Given the description of an element on the screen output the (x, y) to click on. 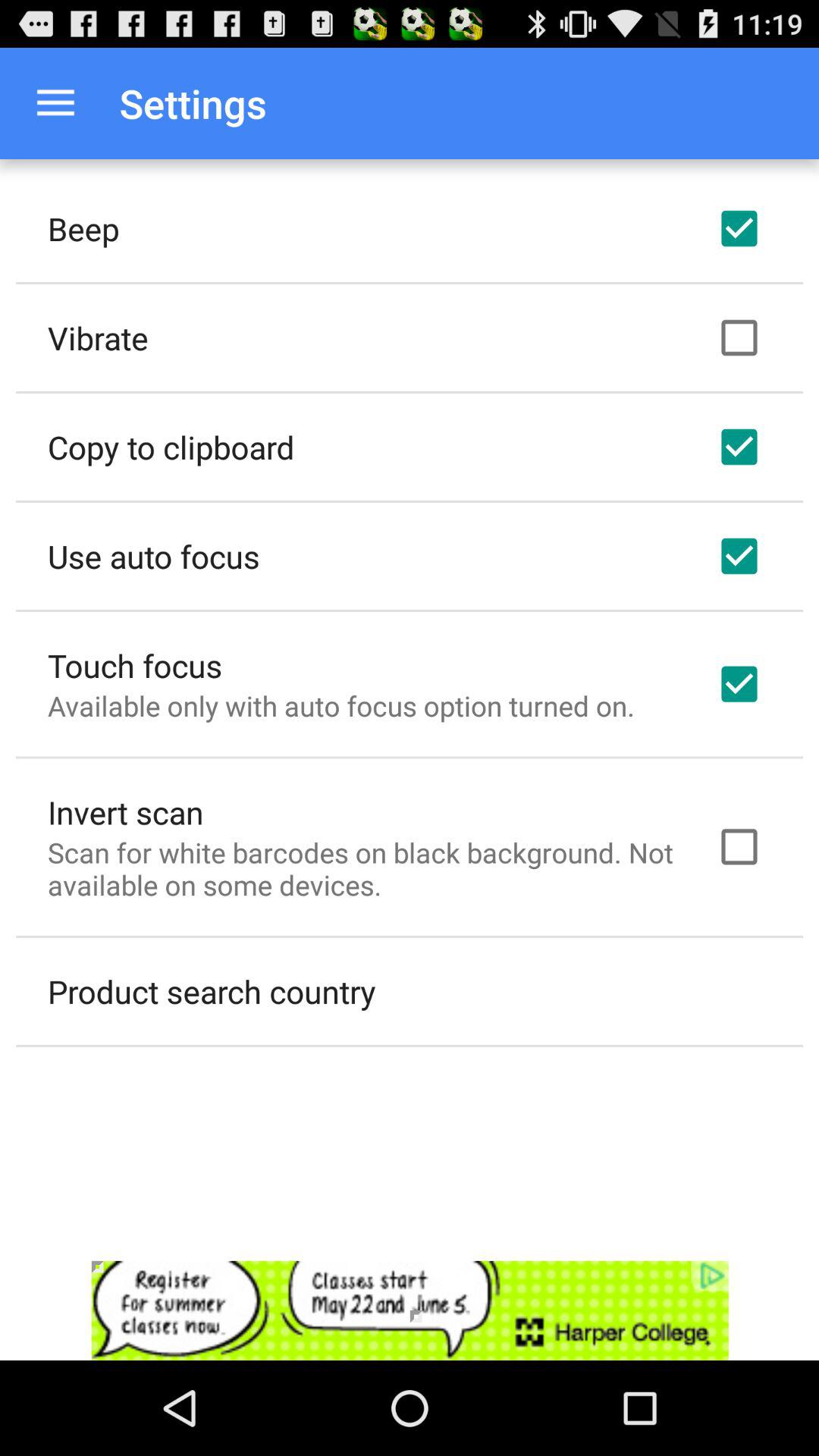
link to advertisement (409, 1310)
